Given the description of an element on the screen output the (x, y) to click on. 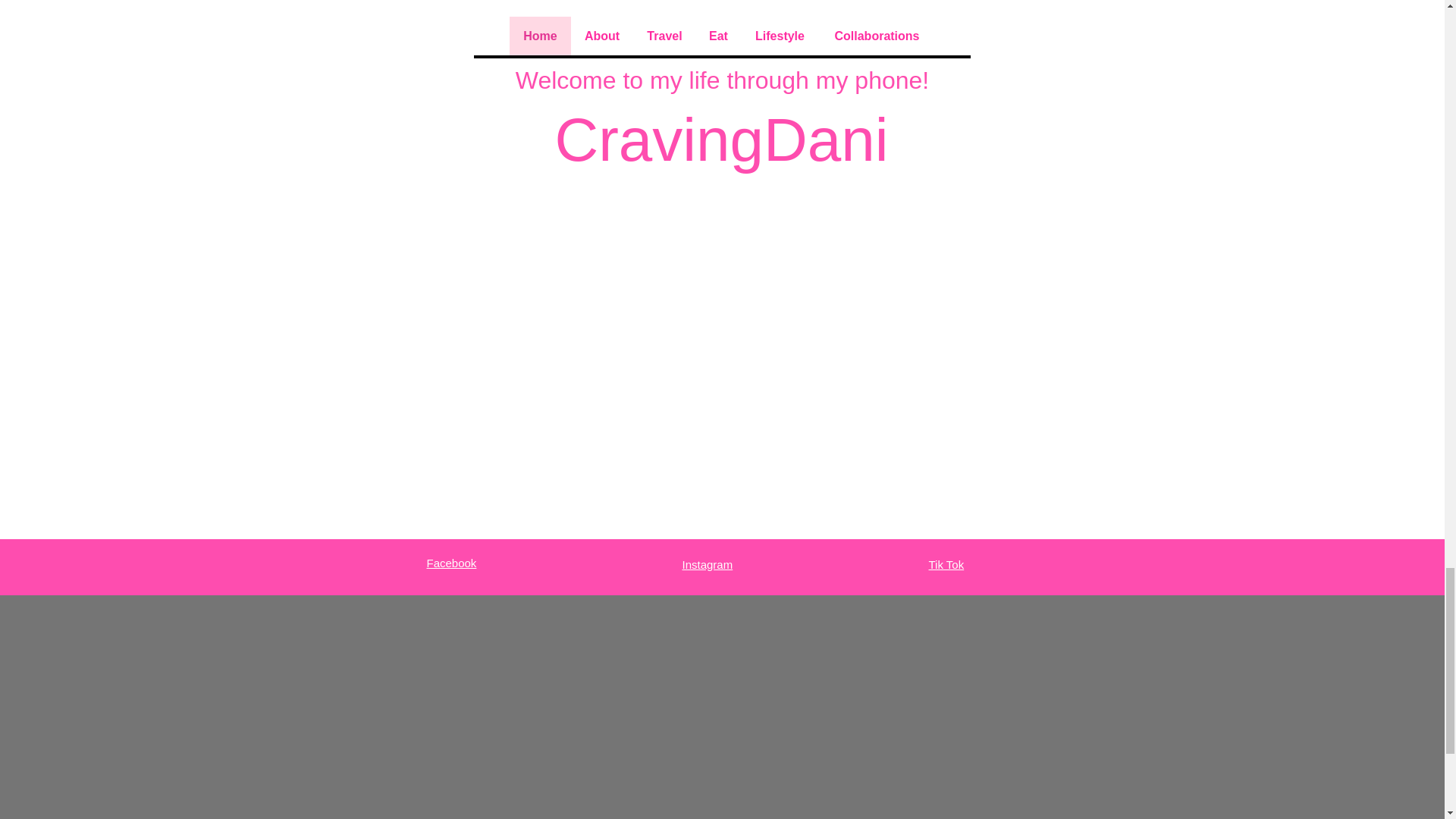
Instagram (707, 563)
Tik Tok (945, 563)
Facebook (451, 562)
